Given the description of an element on the screen output the (x, y) to click on. 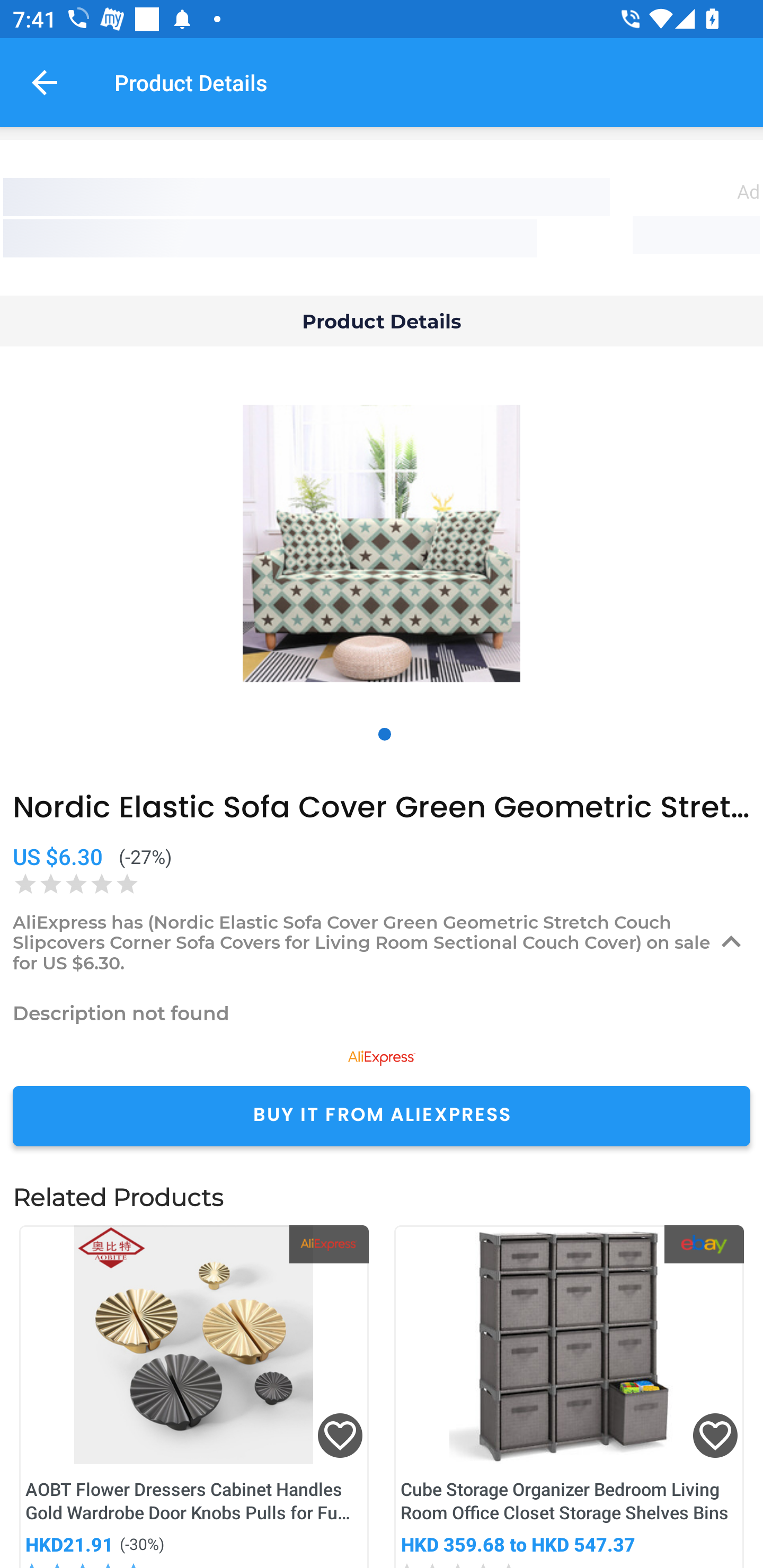
Navigate up (44, 82)
Description not found (381, 1012)
BUY IT FROM ALIEXPRESS (381, 1115)
